Given the description of an element on the screen output the (x, y) to click on. 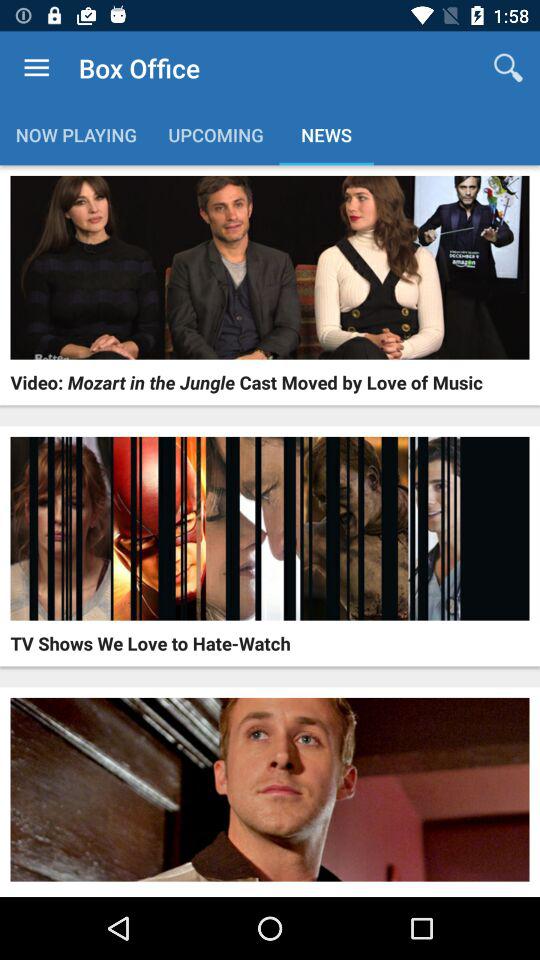
jump to ryan gosling s item (135, 894)
